Given the description of an element on the screen output the (x, y) to click on. 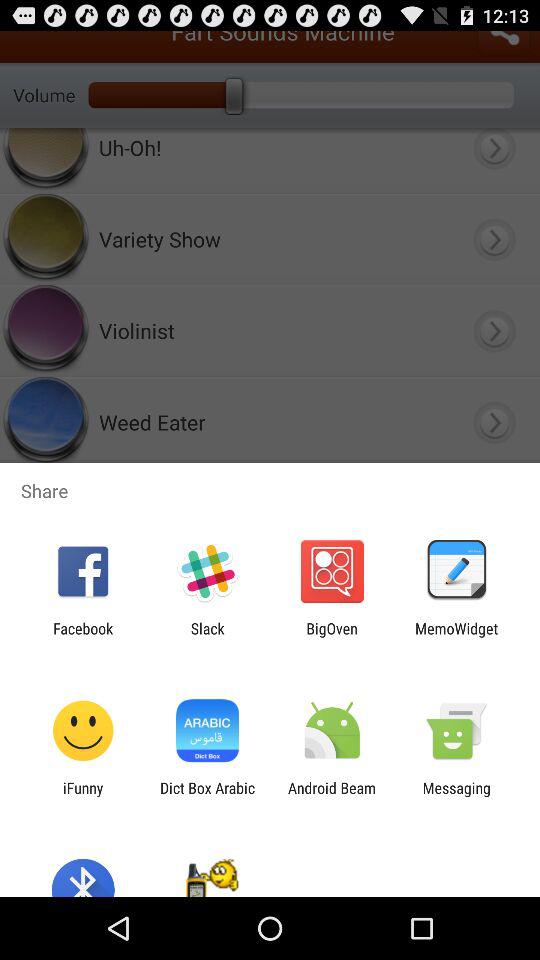
press the icon to the right of the slack icon (331, 637)
